Given the description of an element on the screen output the (x, y) to click on. 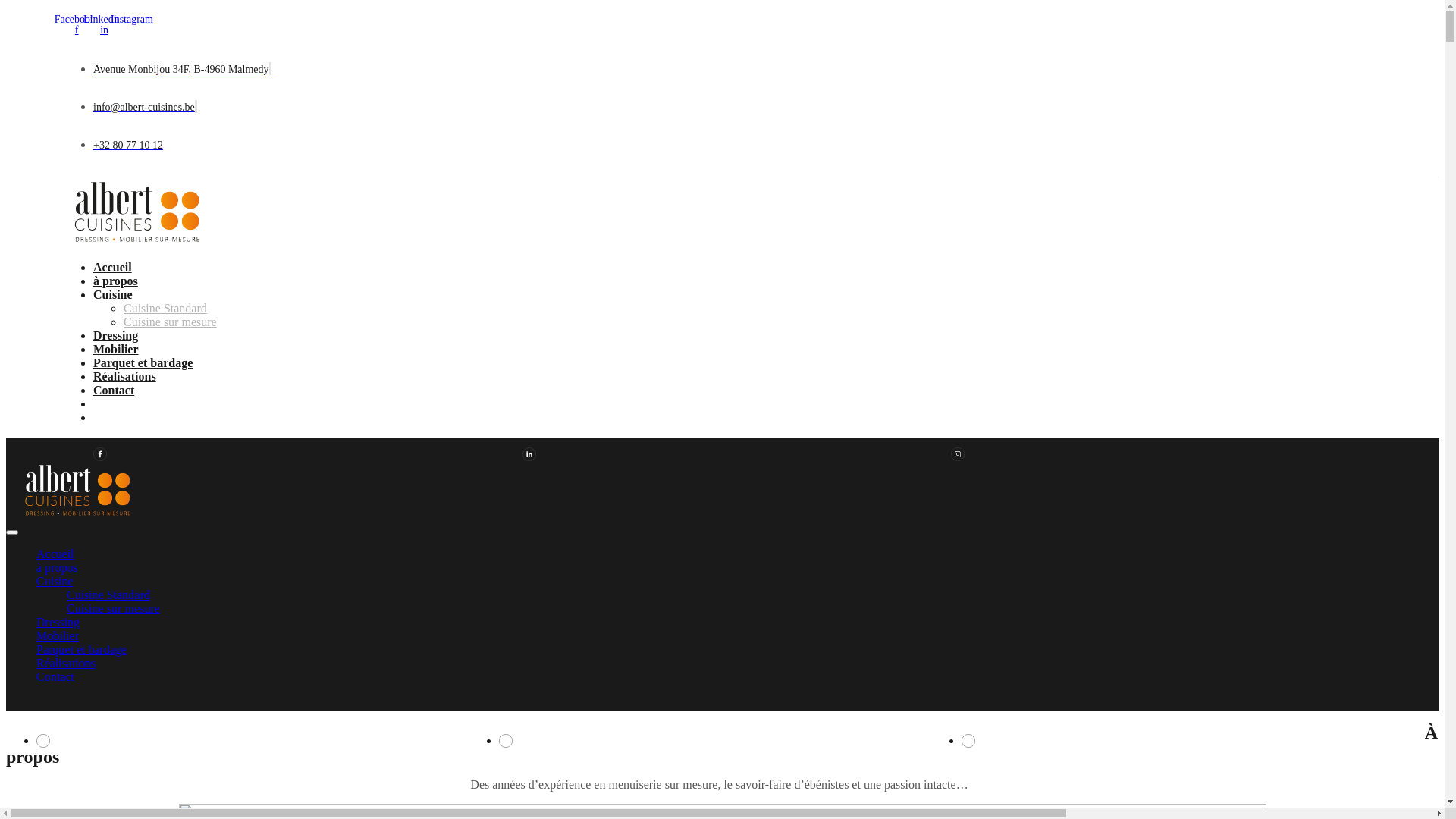
Contact Element type: text (113, 389)
Parquet et bardage Element type: text (81, 649)
Accueil Element type: text (112, 266)
Cuisine sur mesure Element type: text (113, 608)
Facebook-f Element type: text (76, 24)
Linkedin-in Element type: text (103, 24)
Mobilier Element type: text (115, 348)
Dressing Element type: text (115, 335)
Avenue Monbijou 34F, B-4960 Malmedy Element type: text (181, 69)
Accueil Element type: text (55, 553)
Contact Element type: text (55, 676)
+32 80 77 10 12 Element type: text (128, 144)
Cuisine sur mesure Element type: text (169, 321)
Mobilier Element type: text (57, 635)
Dressing Element type: text (57, 621)
info@albert-cuisines.be Element type: text (143, 106)
Cuisine Standard Element type: text (165, 307)
Parquet et bardage Element type: text (142, 362)
Cuisine Element type: text (54, 580)
Instagram Element type: text (131, 19)
Cuisine Standard Element type: text (108, 594)
Cuisine Element type: text (112, 294)
